Given the description of an element on the screen output the (x, y) to click on. 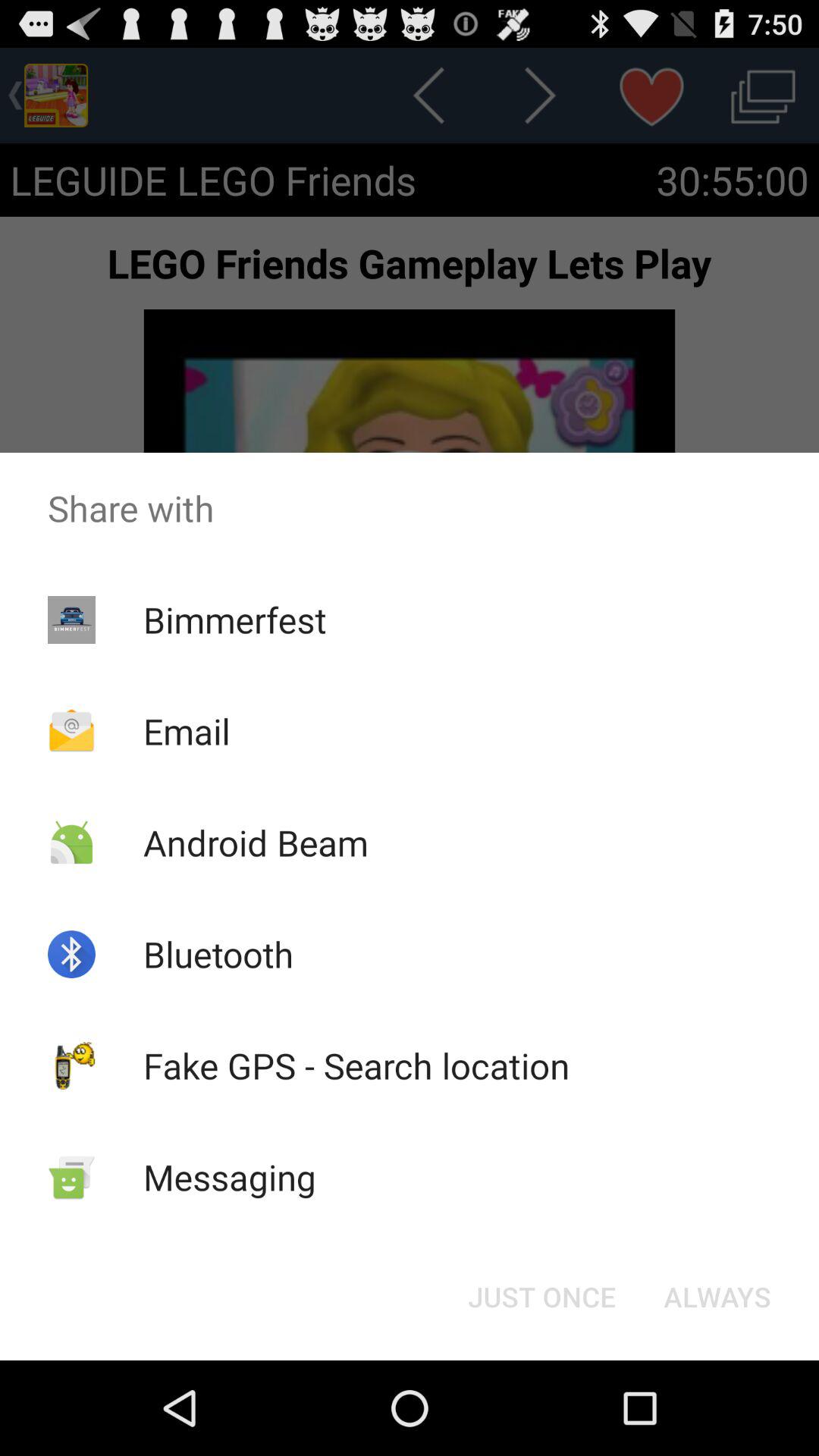
press icon to the right of just once (717, 1296)
